Given the description of an element on the screen output the (x, y) to click on. 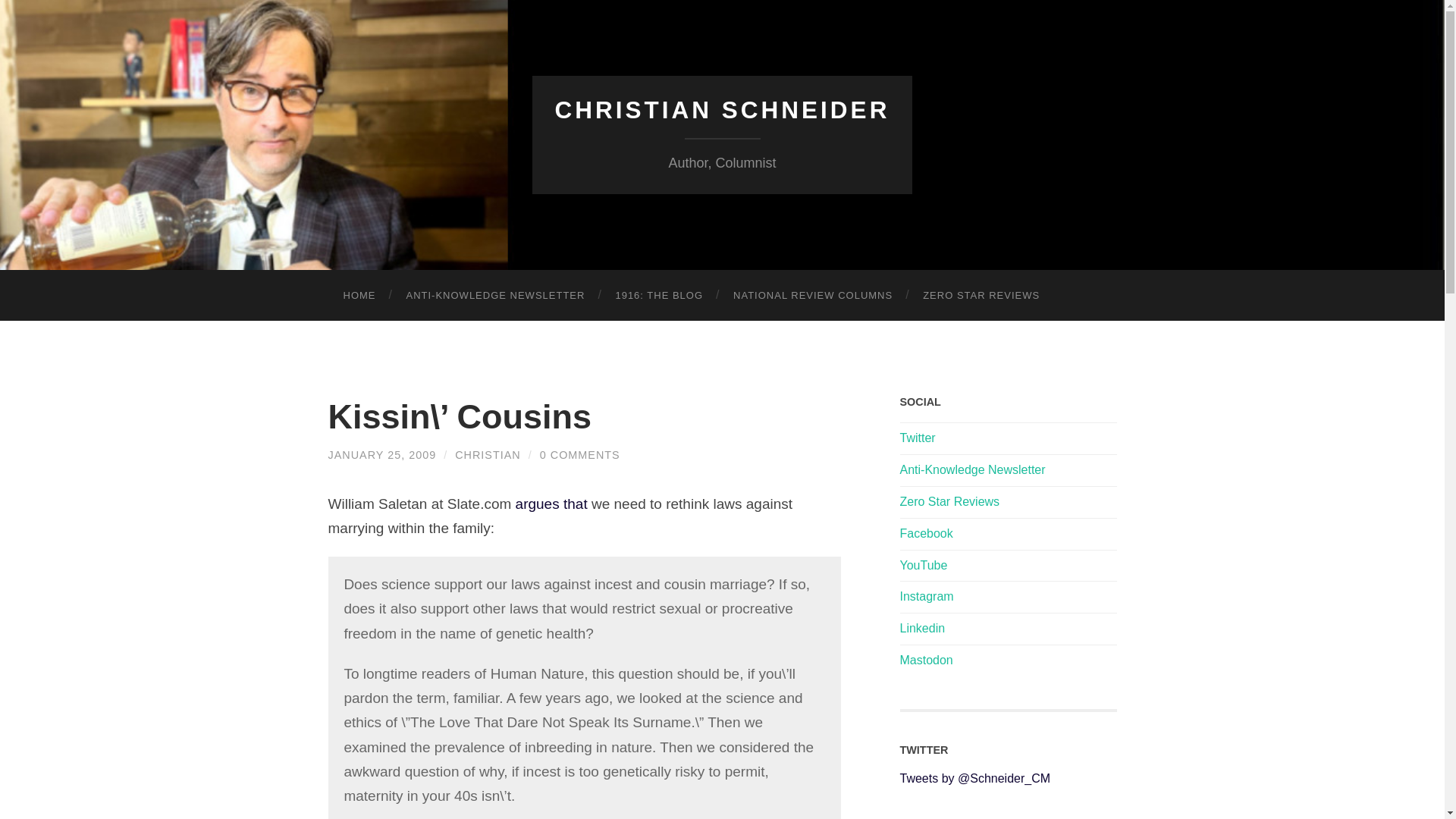
CHRISTIAN SCHNEIDER (721, 109)
Posts by Christian (487, 454)
0 COMMENTS (580, 454)
ANTI-KNOWLEDGE NEWSLETTER (495, 295)
NATIONAL REVIEW COLUMNS (812, 295)
JANUARY 25, 2009 (381, 454)
HOME (358, 295)
Instagram (926, 595)
ZERO STAR REVIEWS (980, 295)
CHRISTIAN (487, 454)
